Given the description of an element on the screen output the (x, y) to click on. 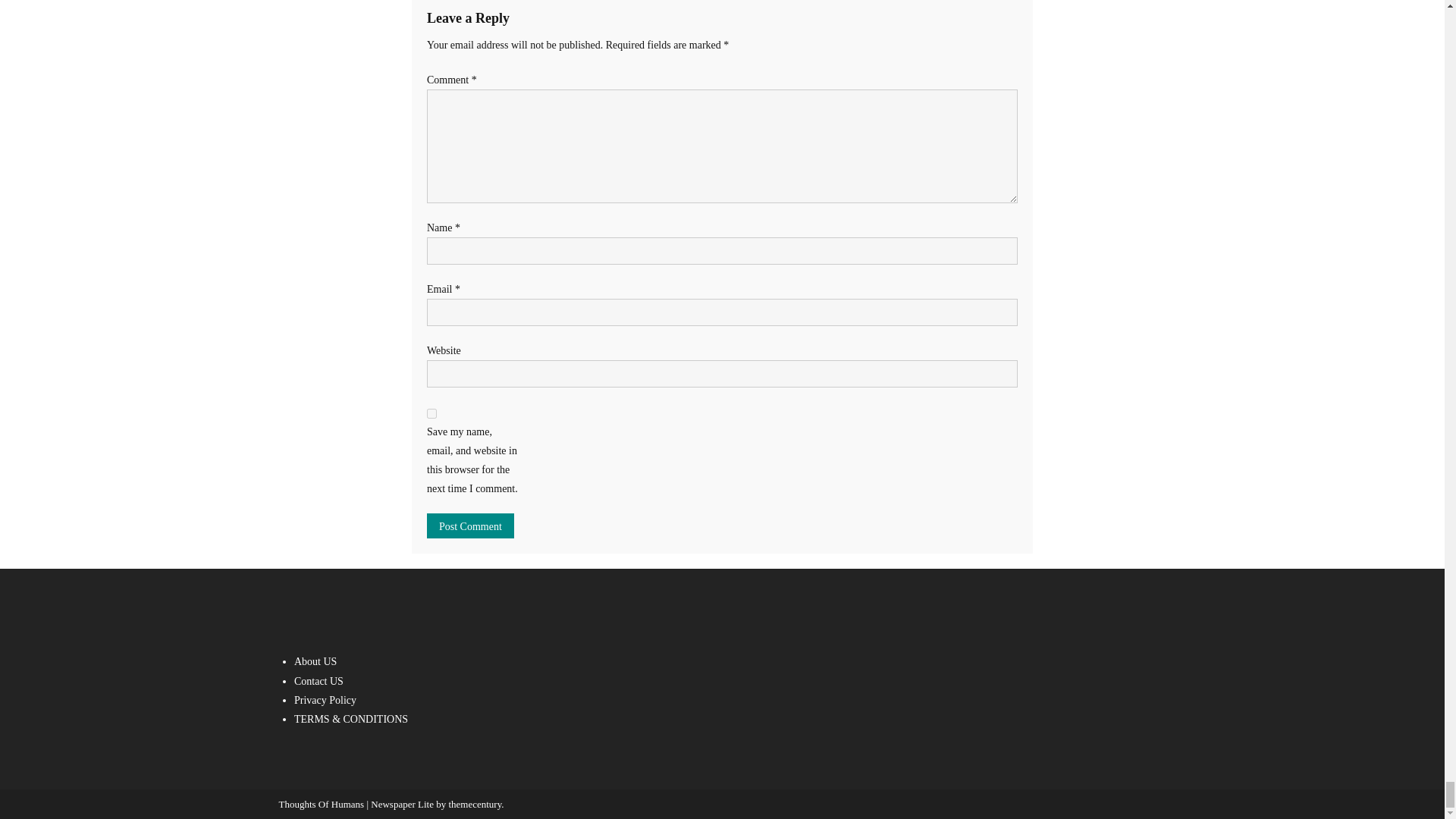
Post Comment (469, 525)
yes (431, 413)
